Given the description of an element on the screen output the (x, y) to click on. 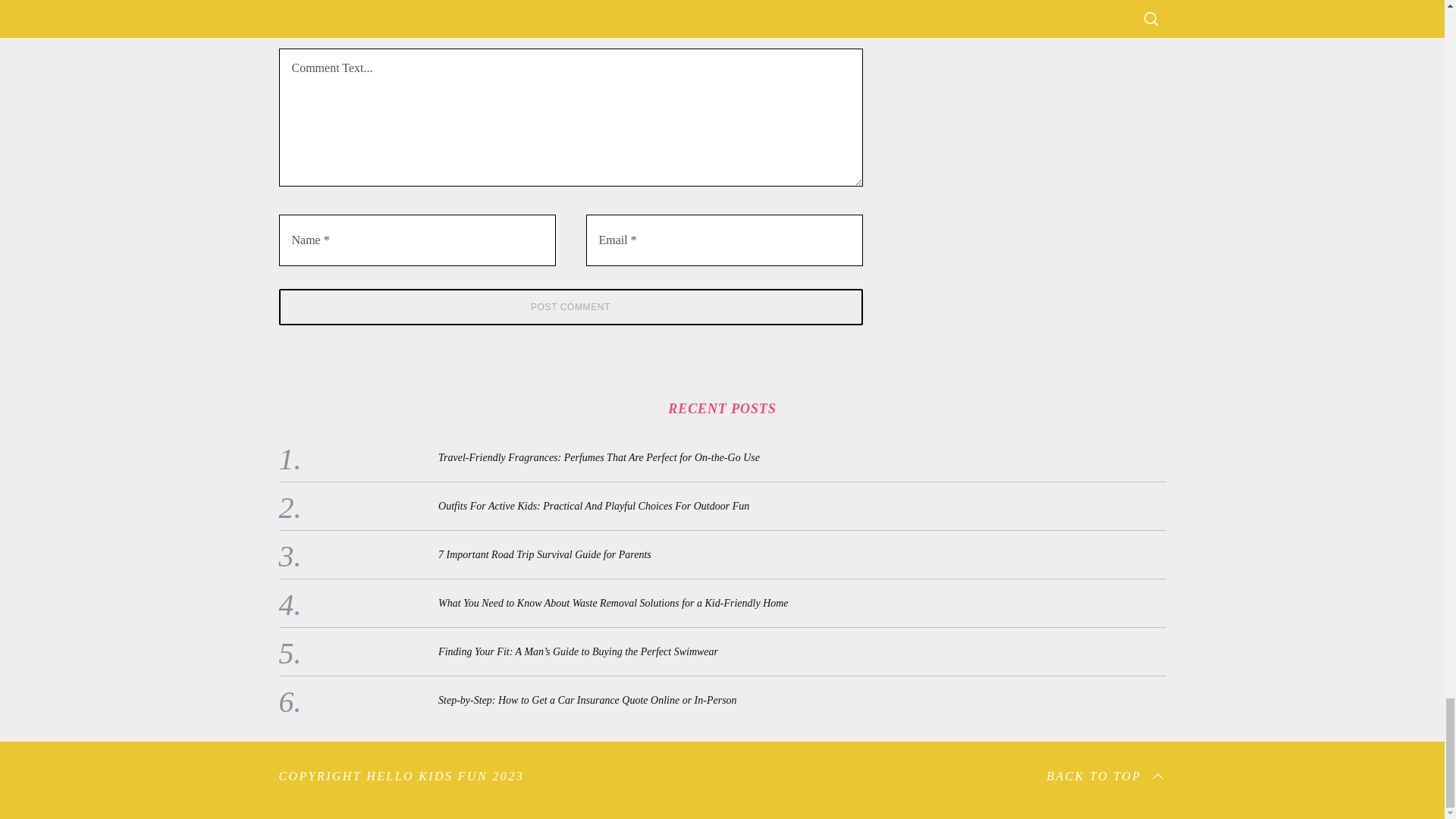
Post Comment (571, 307)
